Given the description of an element on the screen output the (x, y) to click on. 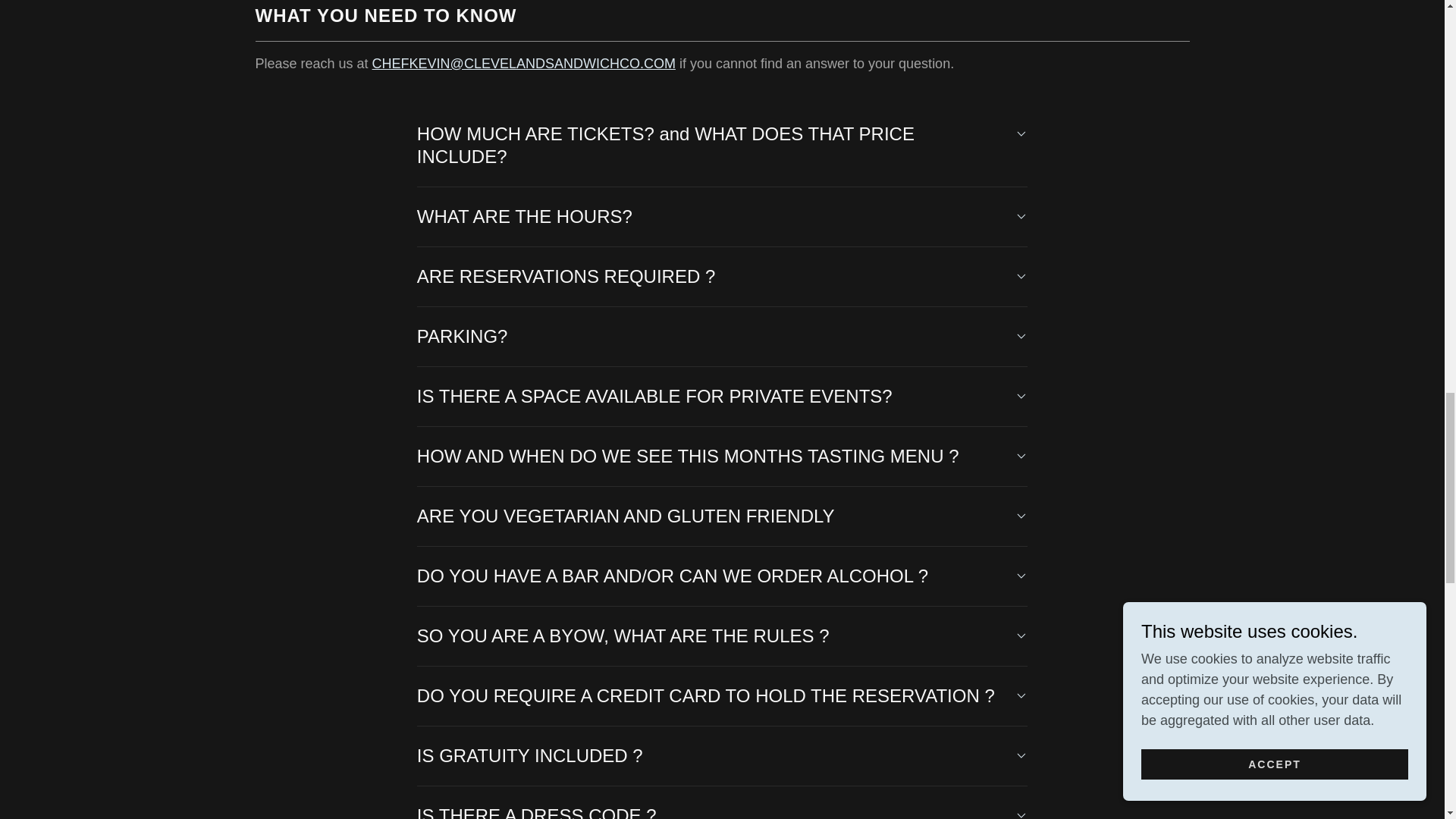
ARE RESERVATIONS REQUIRED ? (721, 276)
ARE YOU VEGETARIAN AND GLUTEN FRIENDLY (721, 515)
IS THERE A SPACE AVAILABLE FOR PRIVATE EVENTS? (721, 396)
WHAT ARE THE HOURS? (721, 216)
PARKING? (721, 336)
DO YOU REQUIRE A CREDIT CARD TO HOLD THE RESERVATION ? (721, 695)
IS THERE A DRESS CODE ? (721, 808)
HOW MUCH ARE TICKETS? and WHAT DOES THAT PRICE INCLUDE? (721, 145)
HOW AND WHEN DO WE SEE THIS MONTHS TASTING MENU ? (721, 456)
SO YOU ARE A BYOW, WHAT ARE THE RULES ? (721, 636)
IS GRATUITY INCLUDED ? (721, 755)
